Given the description of an element on the screen output the (x, y) to click on. 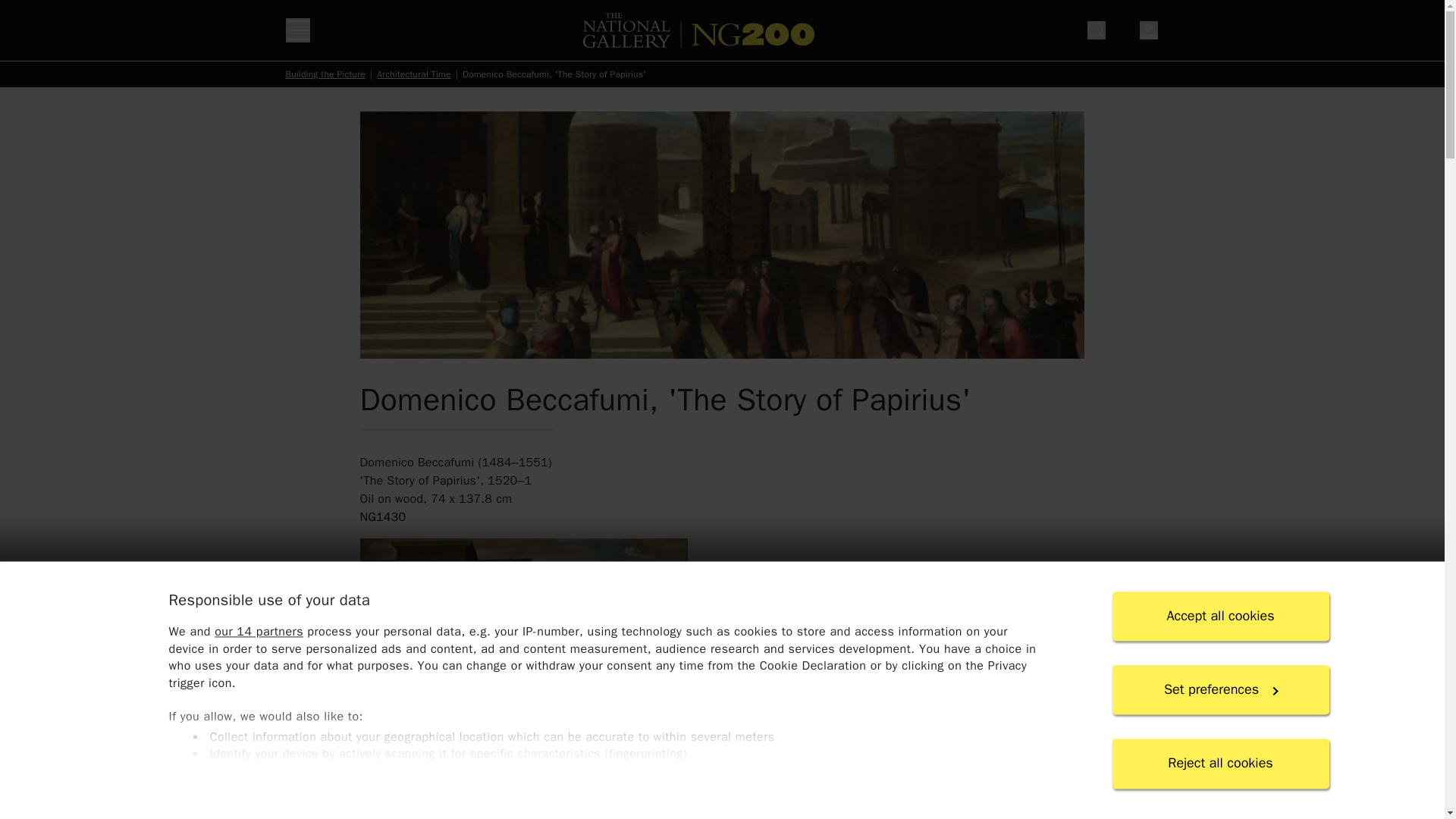
details section (720, 774)
our 14 partners (258, 631)
